Given the description of an element on the screen output the (x, y) to click on. 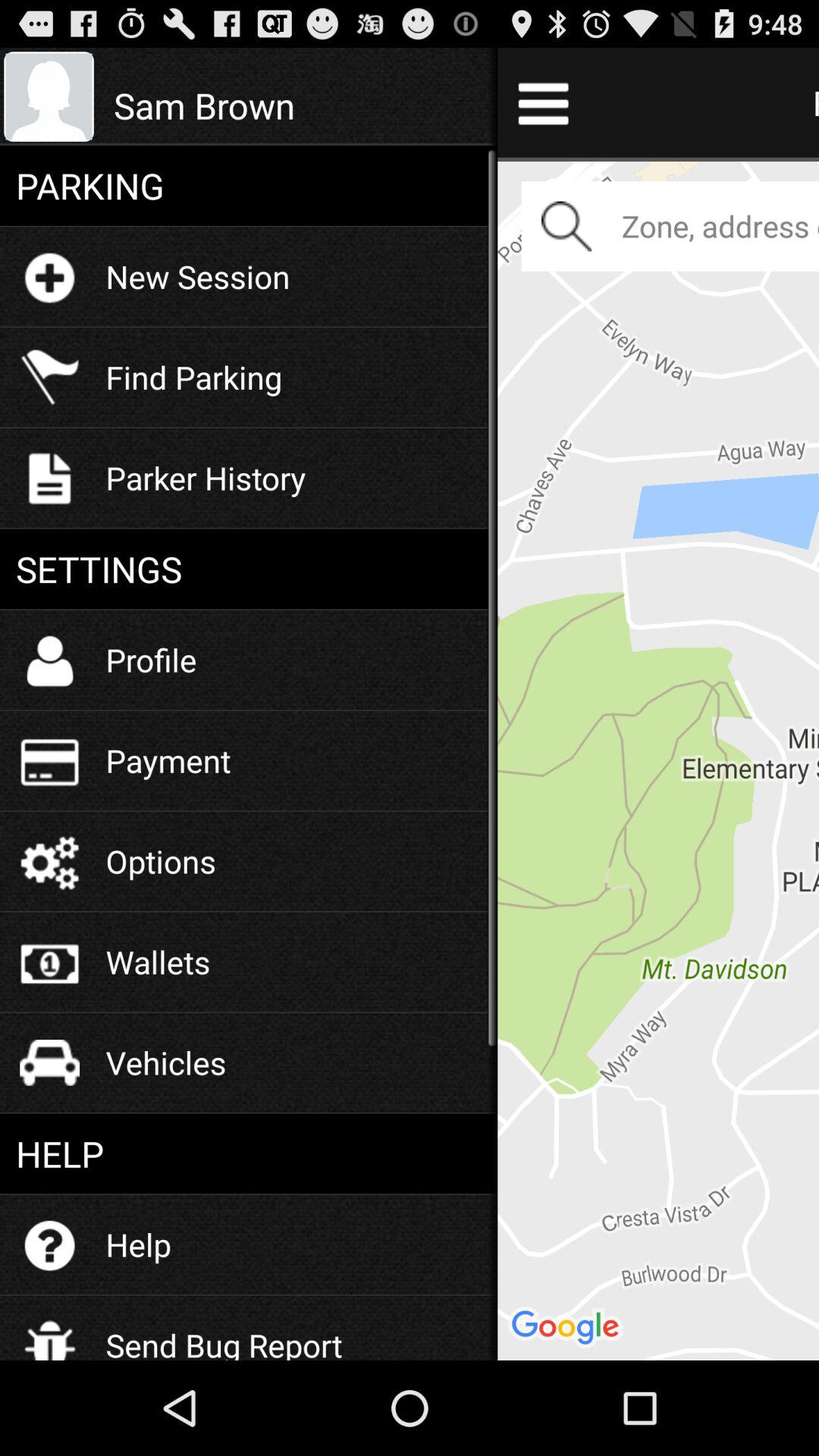
choose the icon below the parking icon (197, 275)
